Given the description of an element on the screen output the (x, y) to click on. 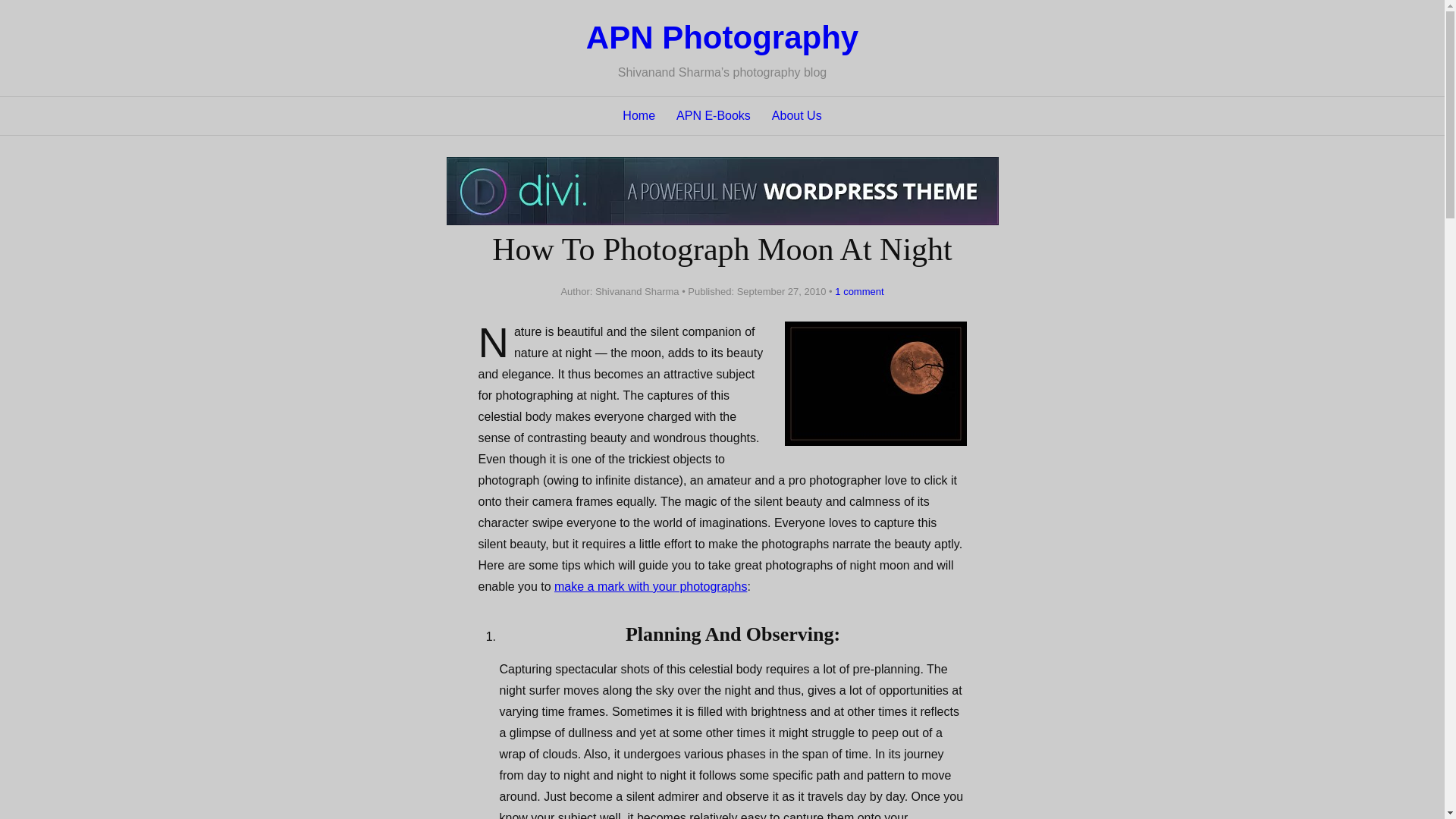
2010-09-27 (781, 291)
1 comment (855, 291)
APN E-Books (714, 116)
APN Photography (722, 37)
Smoke Tinged Halloween Moon (875, 383)
make a mark with your photographs (650, 585)
About Us (796, 116)
make a mark with your photographs (650, 585)
